Given the description of an element on the screen output the (x, y) to click on. 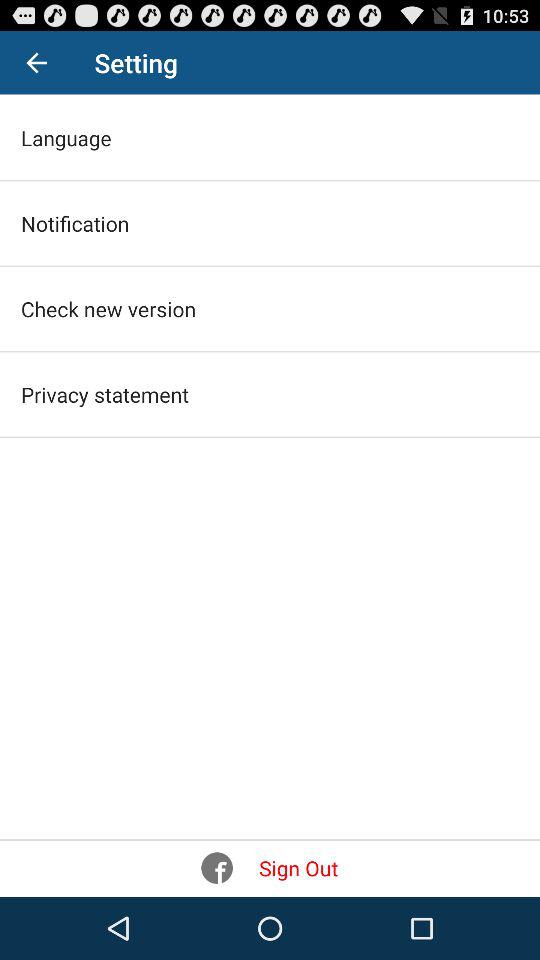
select item next to the setting (36, 62)
